Given the description of an element on the screen output the (x, y) to click on. 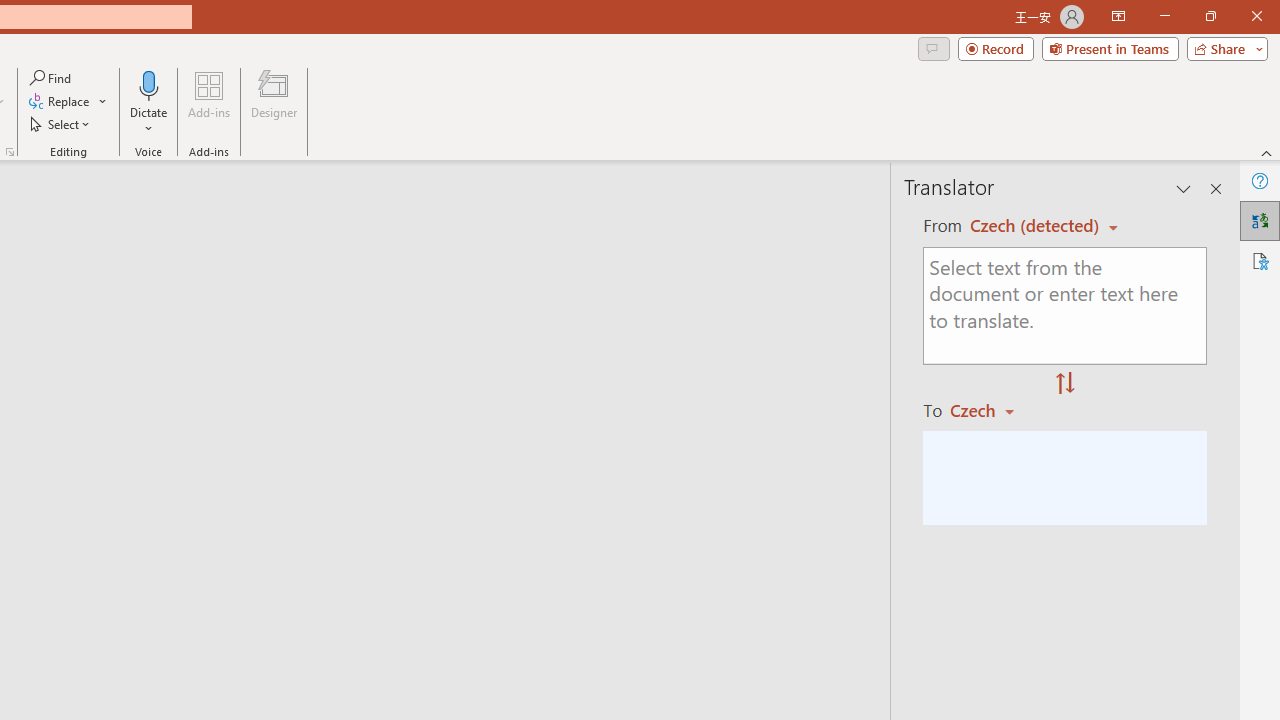
Swap "from" and "to" languages. (1065, 383)
Find... (51, 78)
Select (61, 124)
Czech (991, 409)
